Given the description of an element on the screen output the (x, y) to click on. 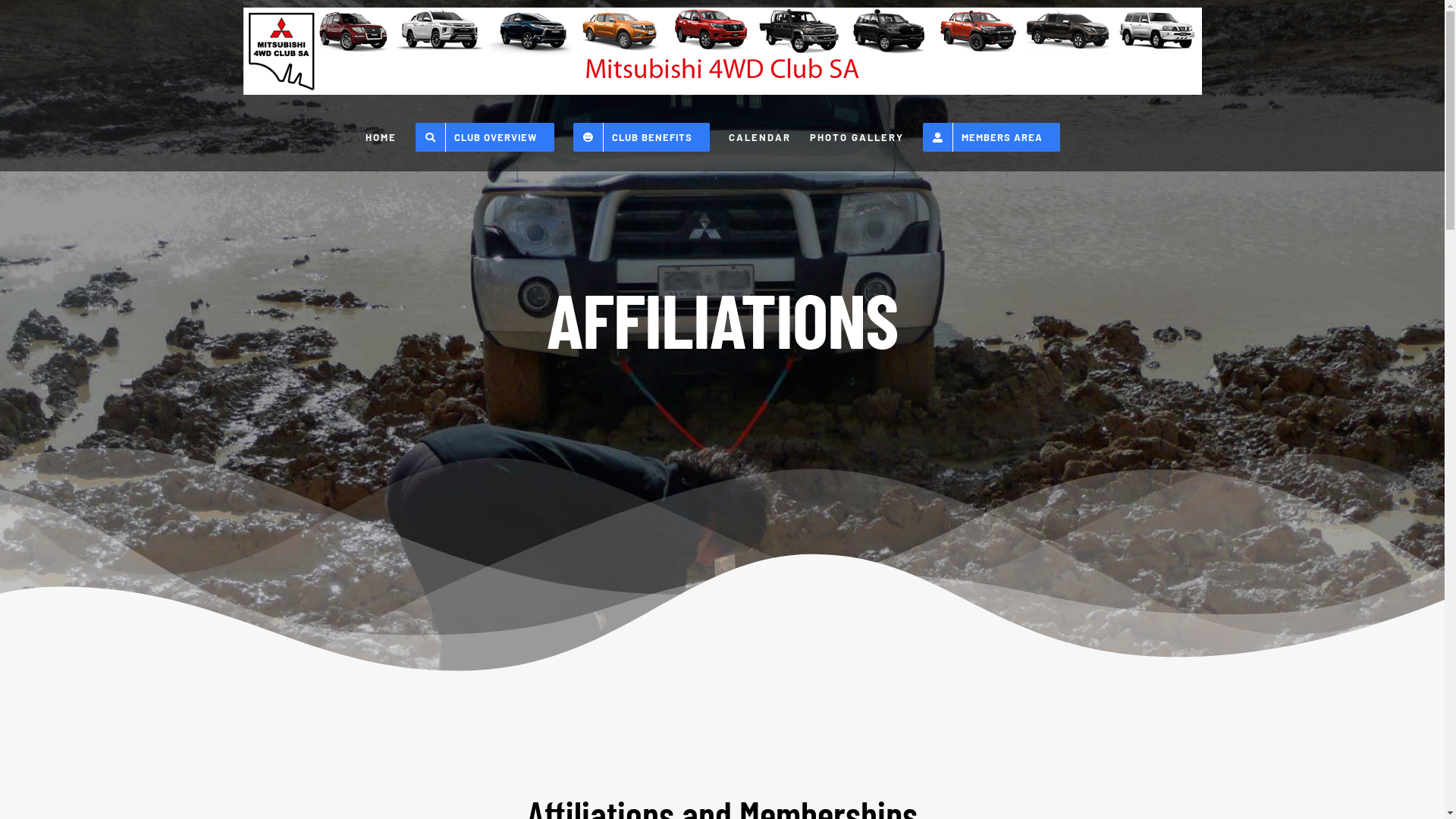
MEMBERS AREA Element type: text (991, 137)
CLUB OVERVIEW Element type: text (484, 137)
CALENDAR Element type: text (759, 137)
HOME Element type: text (380, 137)
CLUB BENEFITS Element type: text (641, 137)
PHOTO GALLERY Element type: text (856, 137)
